Given the description of an element on the screen output the (x, y) to click on. 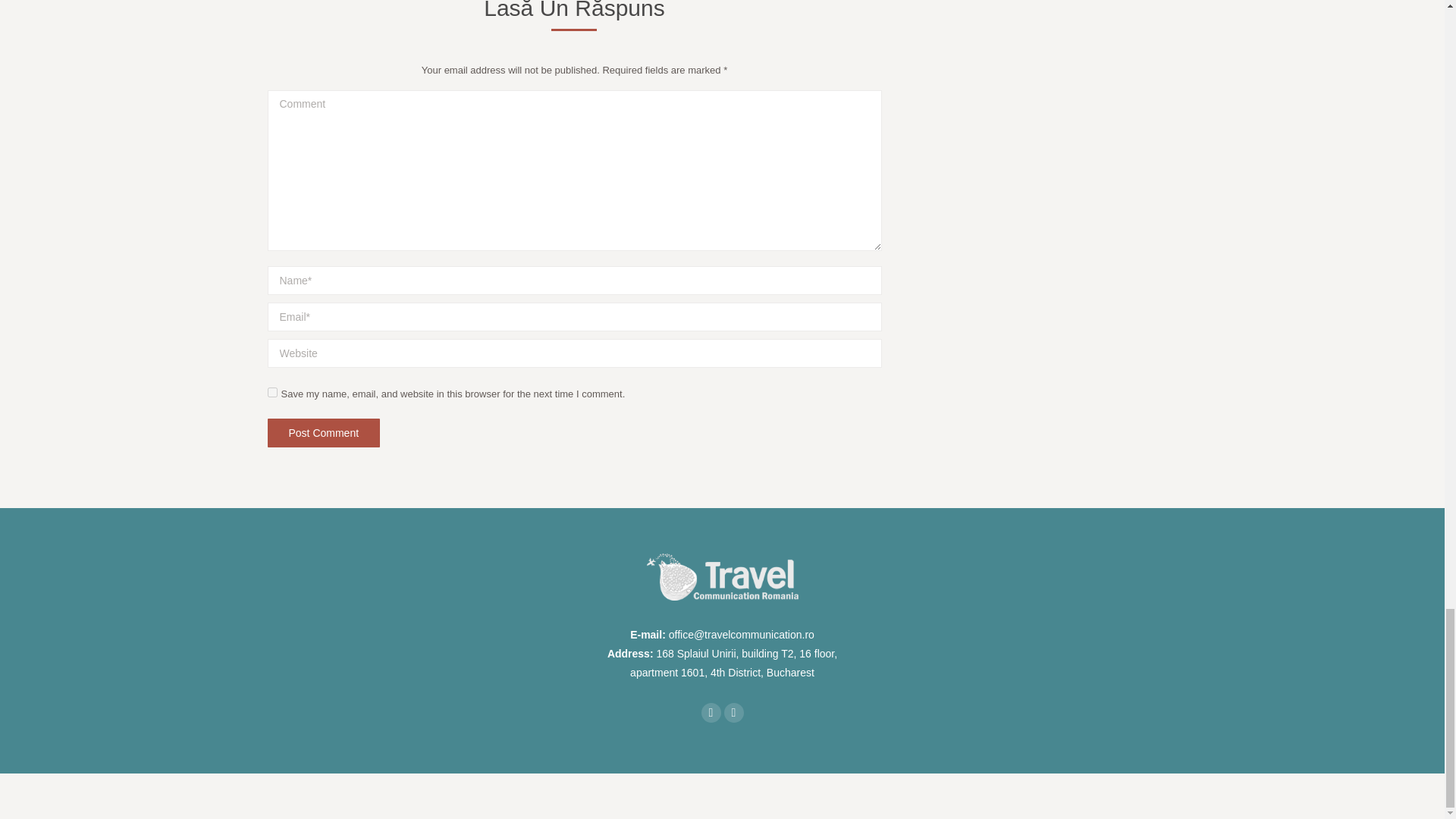
Instagram page opens in new window (732, 712)
yes (271, 392)
Facebook page opens in new window (710, 712)
